Given the description of an element on the screen output the (x, y) to click on. 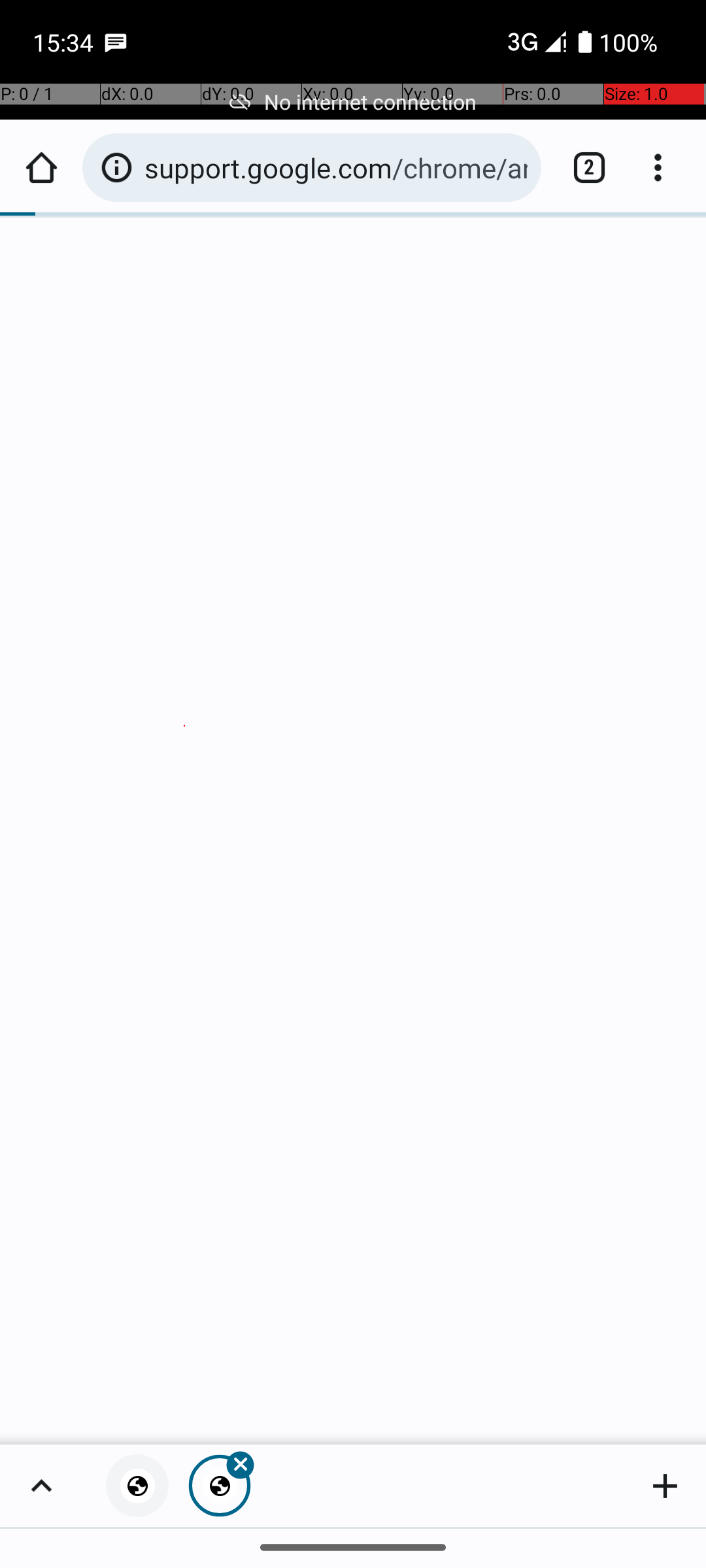
Show group's tabs in fullscreen grid Element type: android.widget.ImageView (41, 1485)
Add new tab to group Element type: android.widget.ImageView (664, 1485)
support.google.com/chrome/answer/6098869#-201 Element type: android.widget.EditText (335, 167)
Privacy error, tab Element type: android.widget.ImageButton (137, 1485)
Close  tab Element type: android.widget.ImageButton (219, 1485)
